Given the description of an element on the screen output the (x, y) to click on. 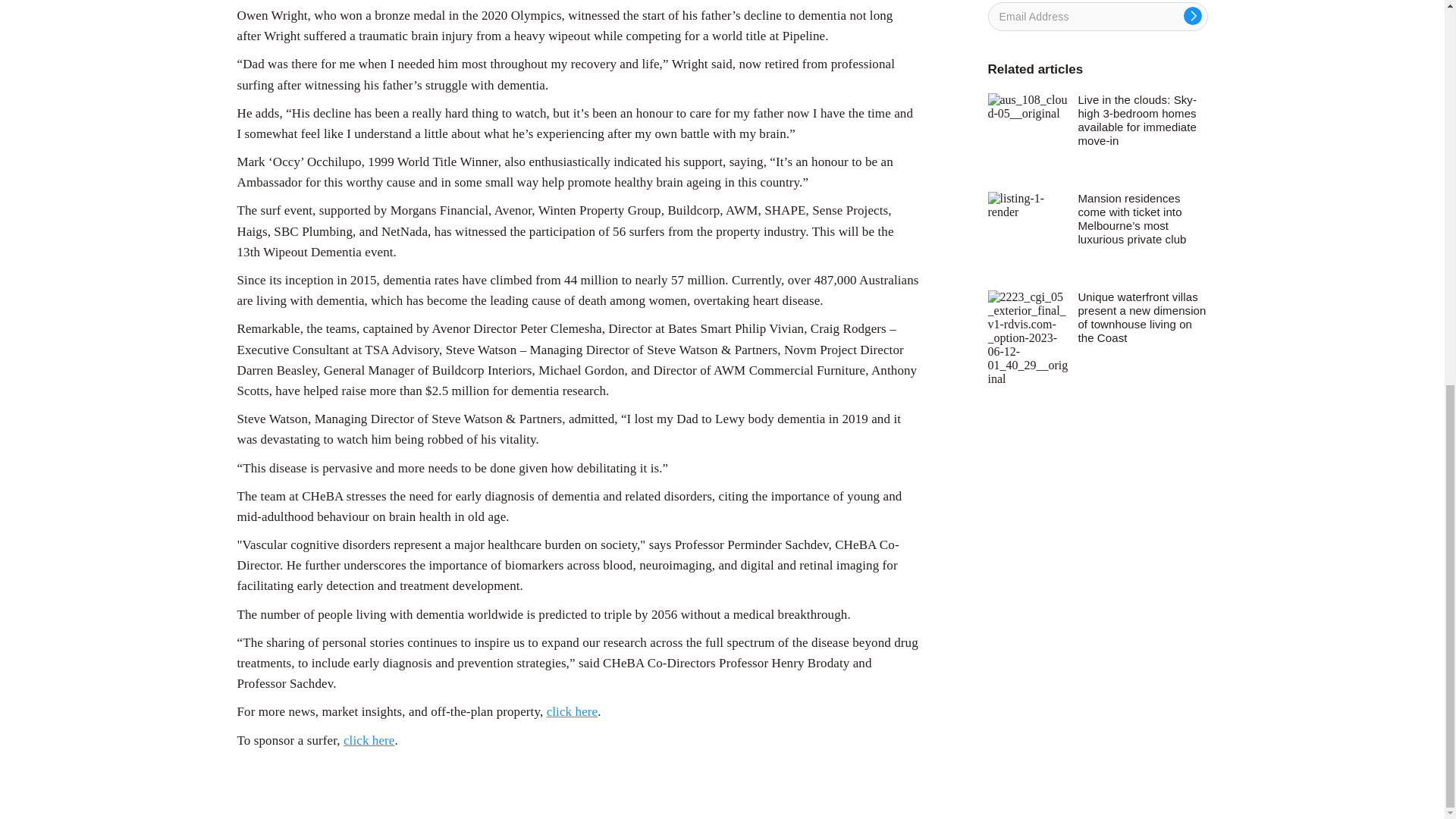
click here (368, 740)
click here (572, 711)
